Given the description of an element on the screen output the (x, y) to click on. 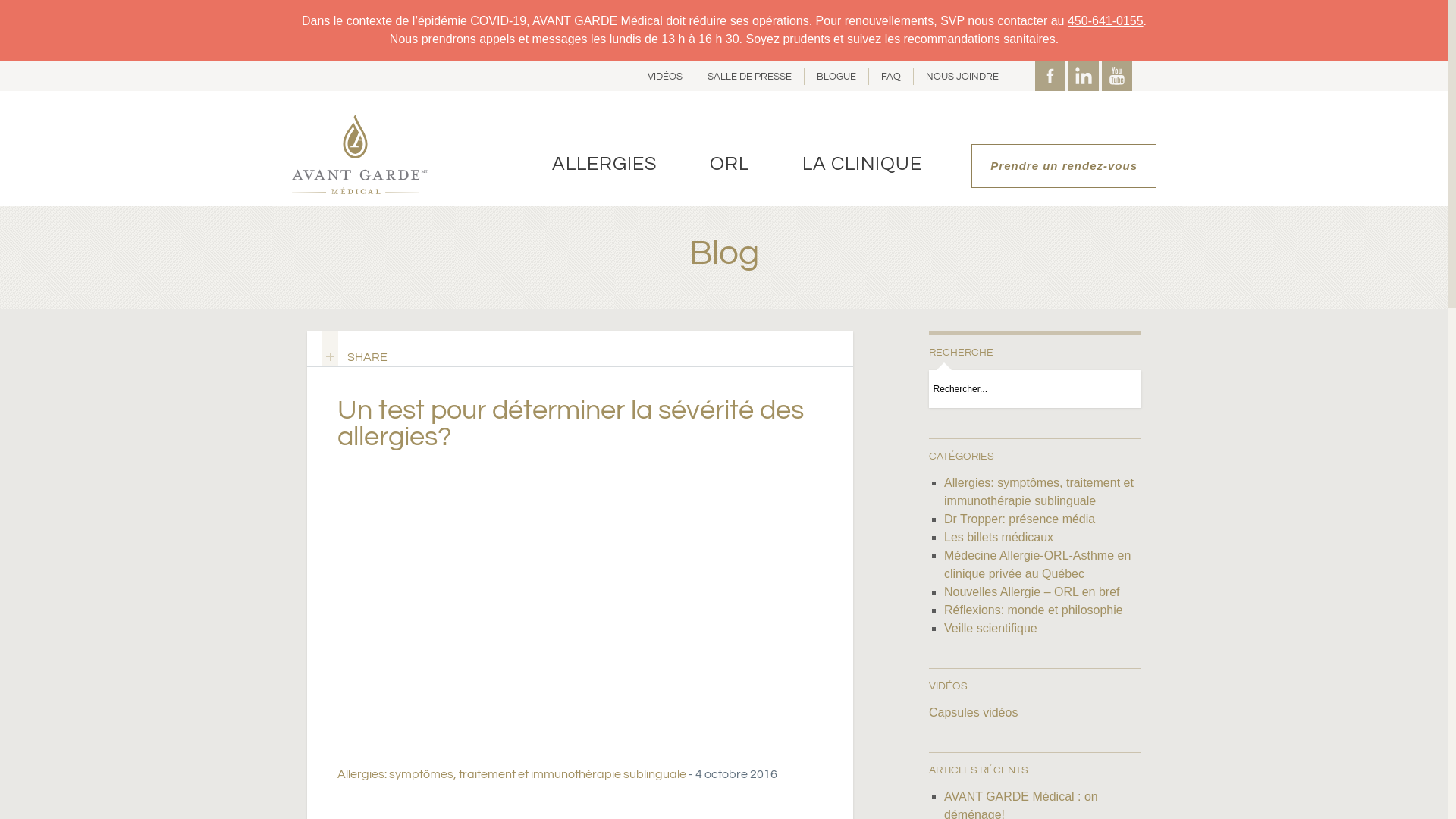
Rechercher Element type: text (1119, 388)
BLOGUE Element type: text (836, 76)
LA CLINIQUE Element type: text (862, 163)
Veille scientifique Element type: text (990, 627)
SALLE DE PRESSE Element type: text (749, 76)
FAQ Element type: text (891, 76)
Rechercher... Element type: hover (1015, 388)
ORL Element type: text (729, 163)
ALLERGIES Element type: text (604, 163)
Prendre un rendez-vous Element type: text (1063, 166)
NOUS JOINDRE Element type: text (961, 76)
450-641-0155 Element type: text (1105, 20)
